Given the description of an element on the screen output the (x, y) to click on. 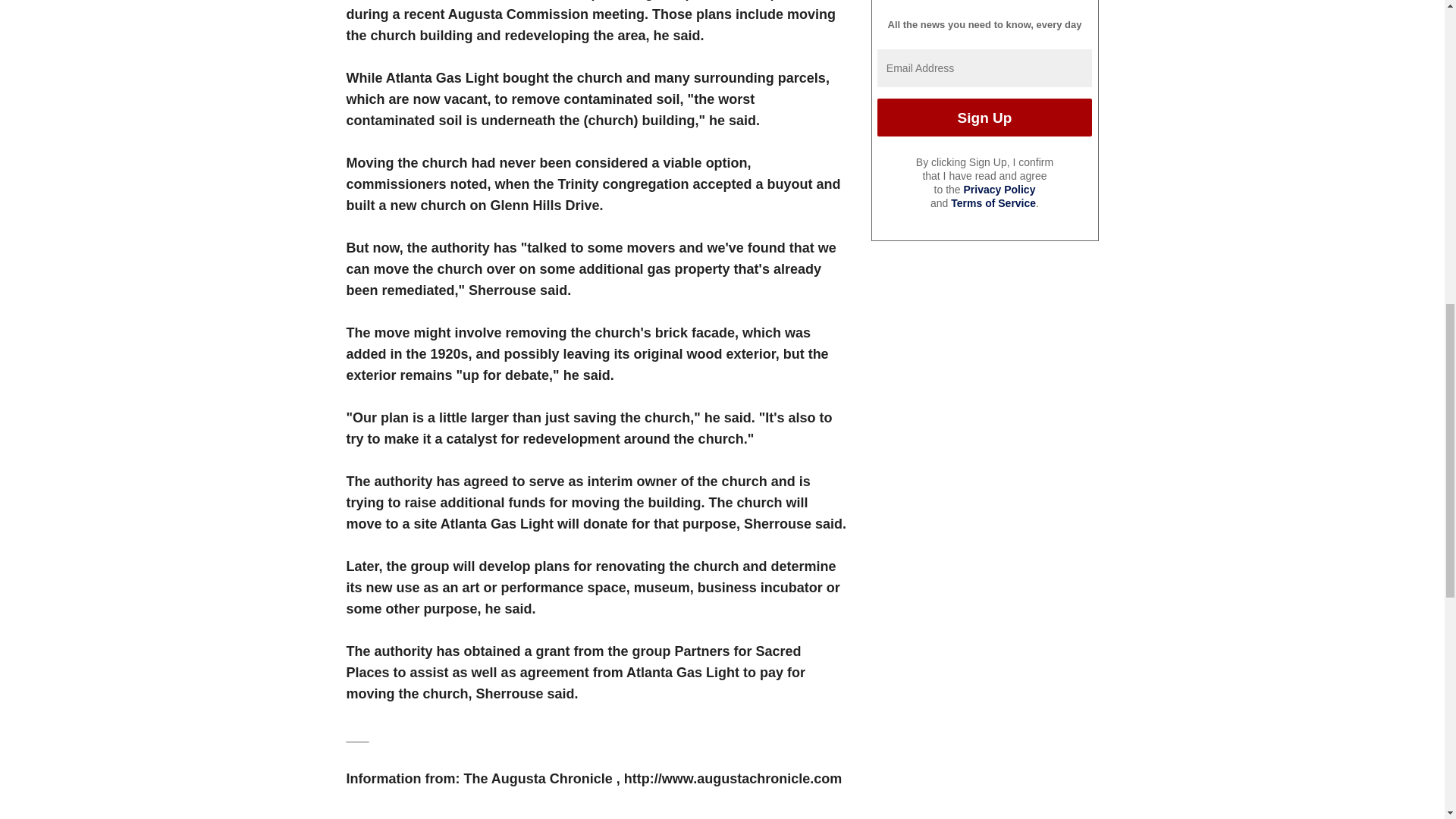
Sign Up (984, 117)
